Given the description of an element on the screen output the (x, y) to click on. 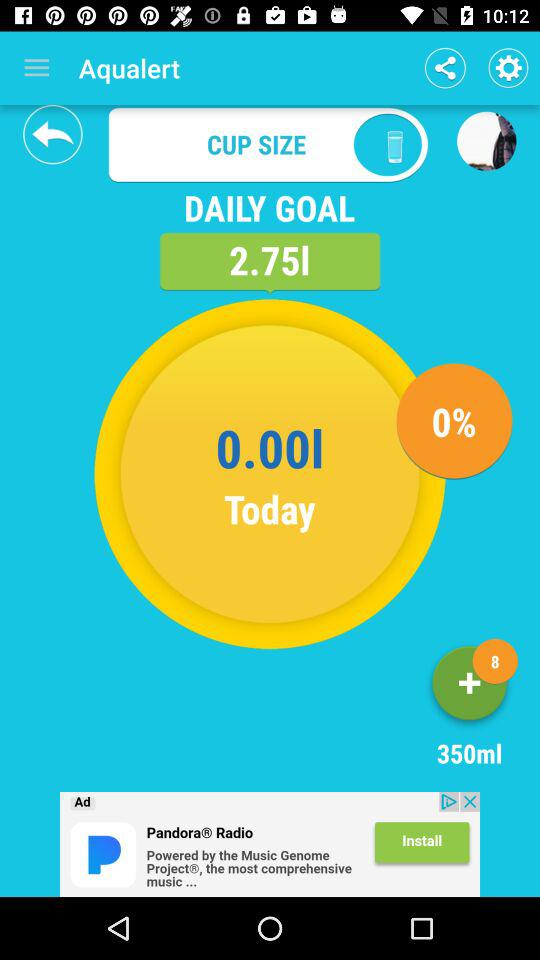
add 350ml (469, 686)
